Given the description of an element on the screen output the (x, y) to click on. 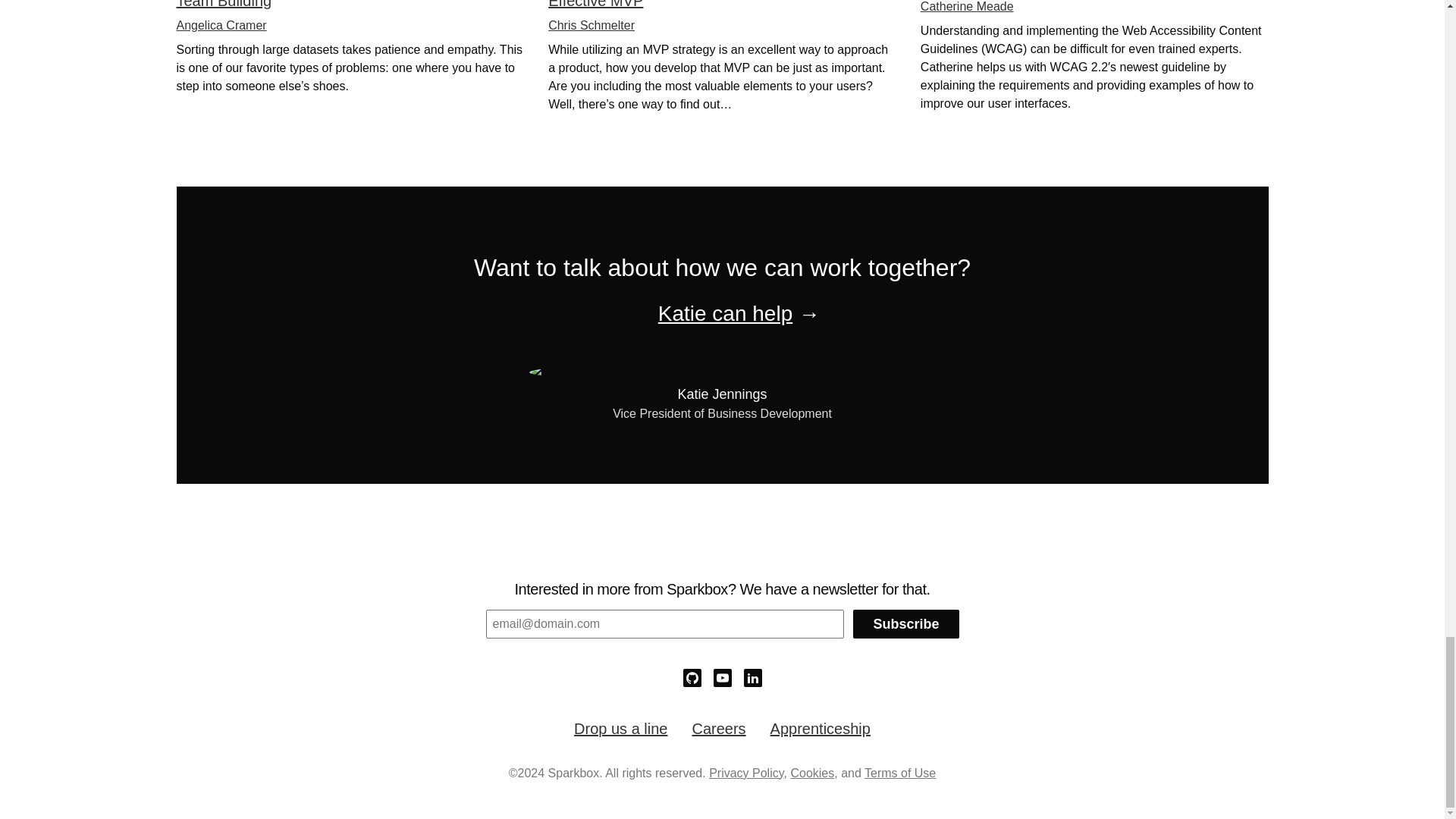
Apprenticeship (820, 728)
Katie can help (725, 313)
Privacy Policy (746, 772)
Careers (718, 728)
Catherine Meade (966, 6)
Subscribe (905, 623)
Chris Schmelter (591, 24)
Drop us a line (619, 728)
